Given the description of an element on the screen output the (x, y) to click on. 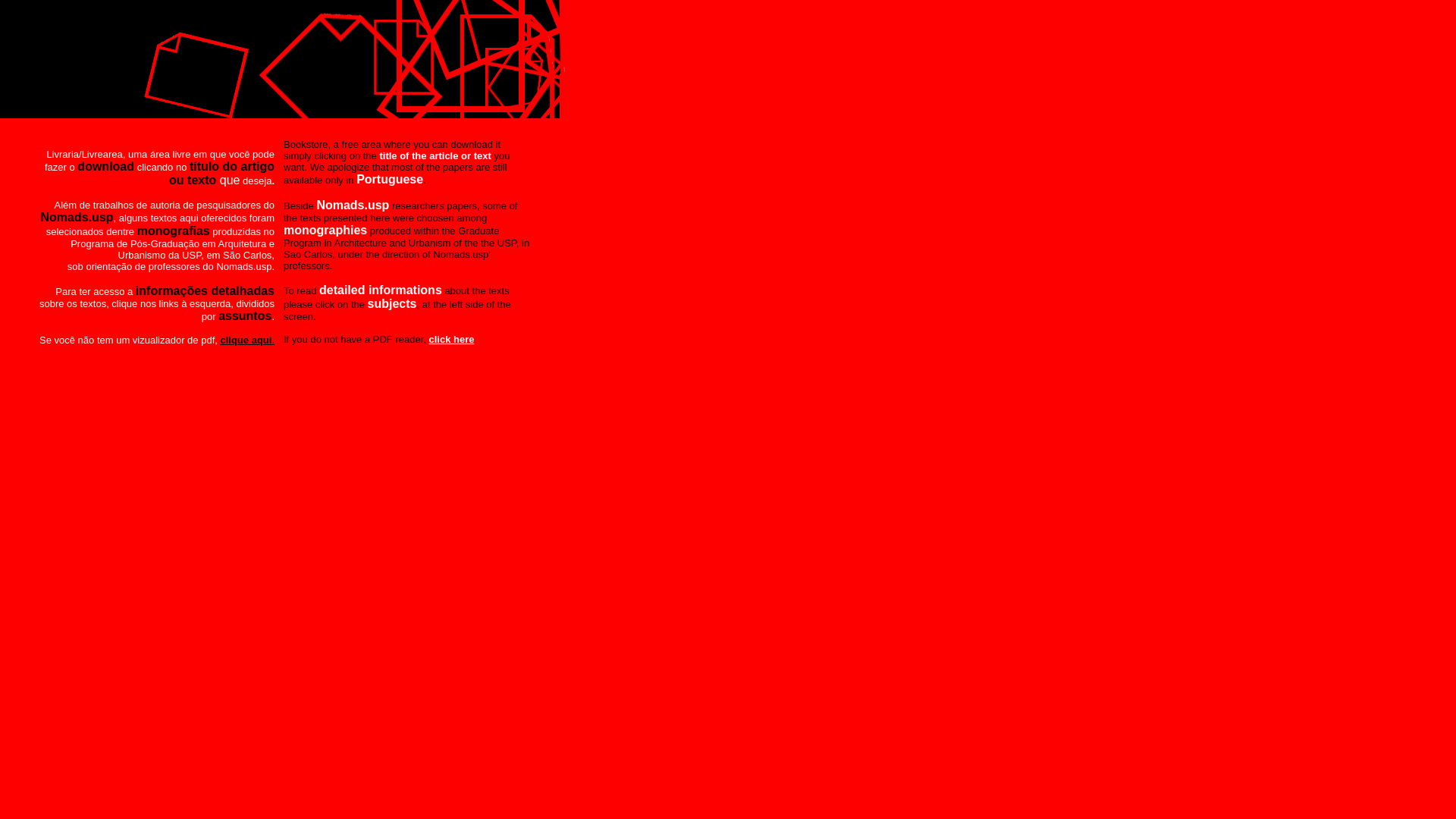
clique aqui Element type: text (245, 339)
. Element type: text (272, 339)
click here Element type: text (451, 339)
